Given the description of an element on the screen output the (x, y) to click on. 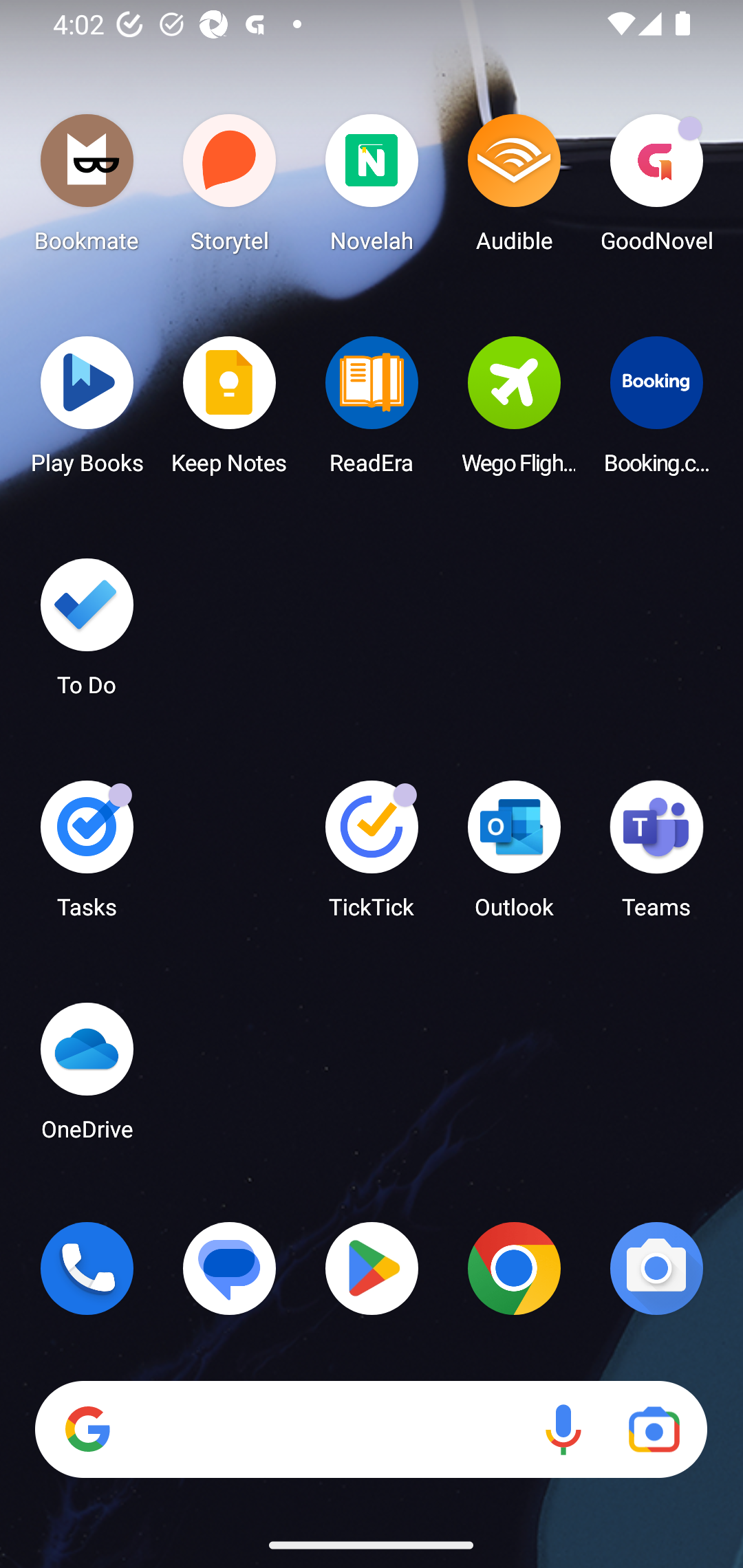
Bookmate (86, 188)
Storytel (229, 188)
Novelah (371, 188)
Audible (513, 188)
GoodNovel GoodNovel has 1 notification (656, 188)
Play Books (86, 410)
Keep Notes (229, 410)
ReadEra (371, 410)
Wego Flights & Hotels (513, 410)
Booking.com (656, 410)
To Do (86, 633)
Tasks Tasks has 1 notification (86, 854)
TickTick TickTick has 3 notifications (371, 854)
Outlook (513, 854)
Teams (656, 854)
OneDrive (86, 1076)
Phone (86, 1268)
Messages (229, 1268)
Play Store (371, 1268)
Chrome (513, 1268)
Camera (656, 1268)
Search Voice search Google Lens (370, 1429)
Voice search (562, 1429)
Google Lens (653, 1429)
